Given the description of an element on the screen output the (x, y) to click on. 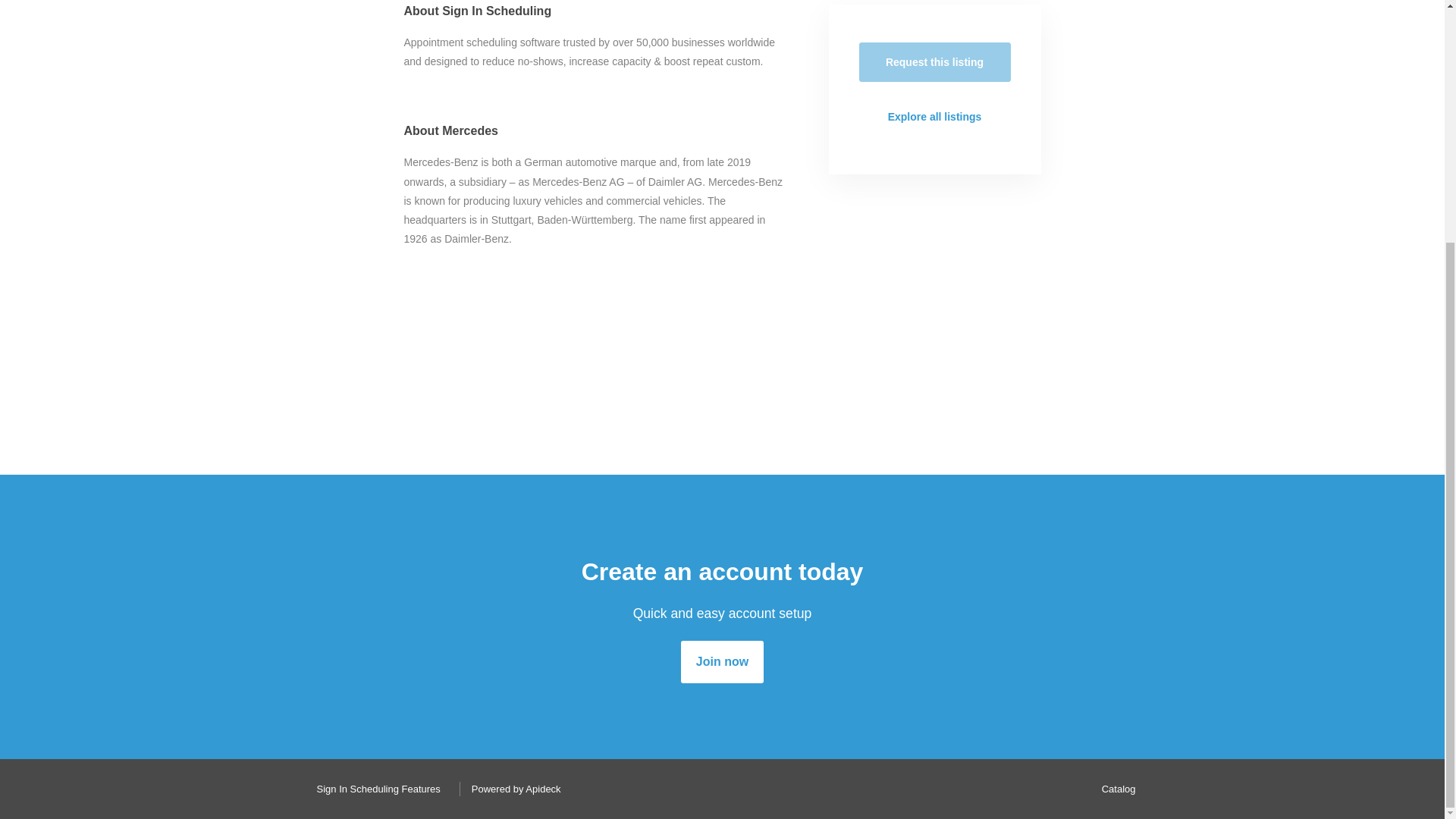
Request this listing (934, 61)
Explore all listings (934, 116)
Join now (721, 661)
Catalog (1115, 789)
Sign In Scheduling Features (374, 789)
Powered by Apideck (512, 789)
